Given the description of an element on the screen output the (x, y) to click on. 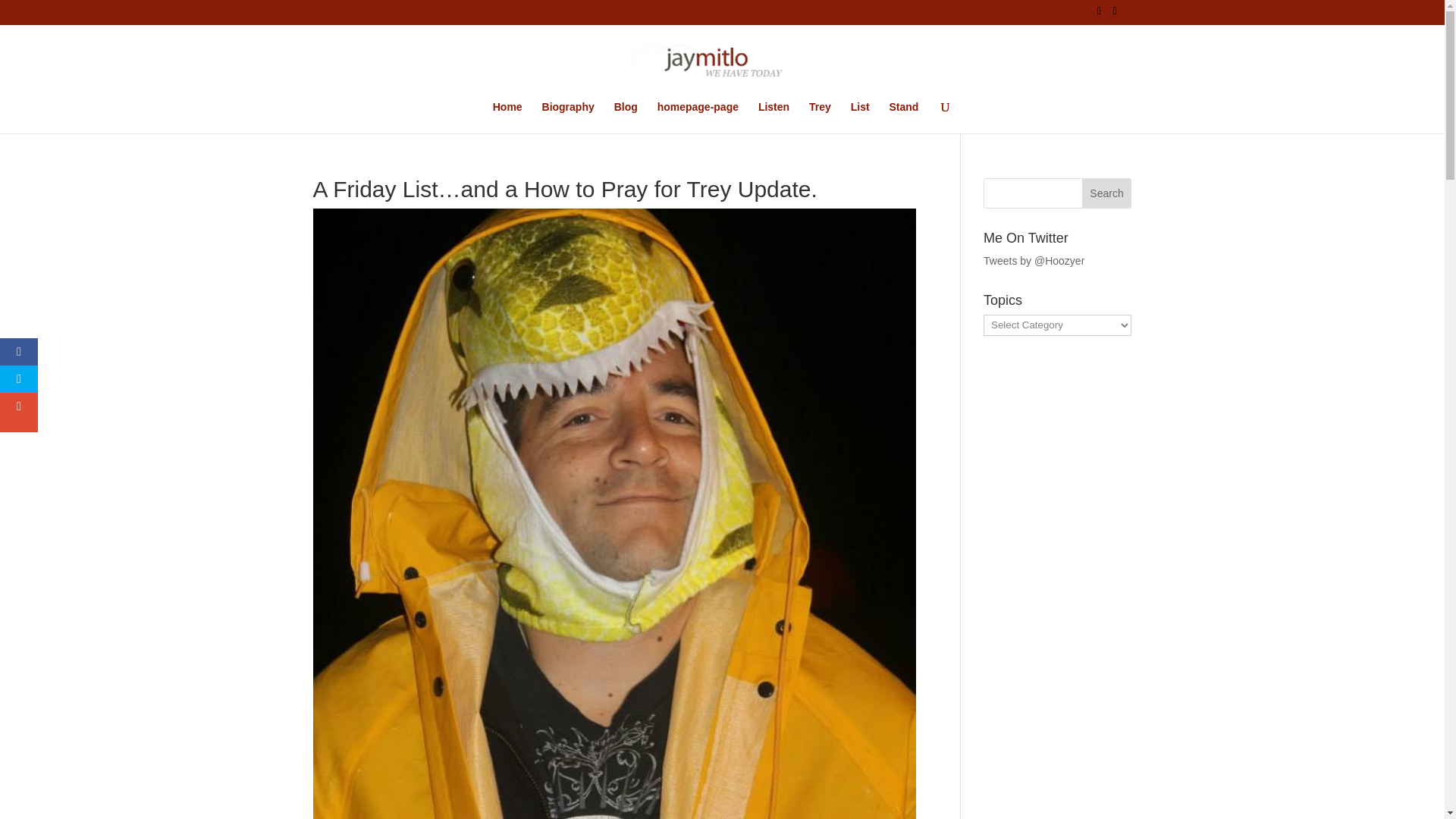
Search (1106, 193)
Listen (773, 117)
homepage-page (698, 117)
Stand (903, 117)
Home (507, 117)
Search (1106, 193)
Biography (567, 117)
